Given the description of an element on the screen output the (x, y) to click on. 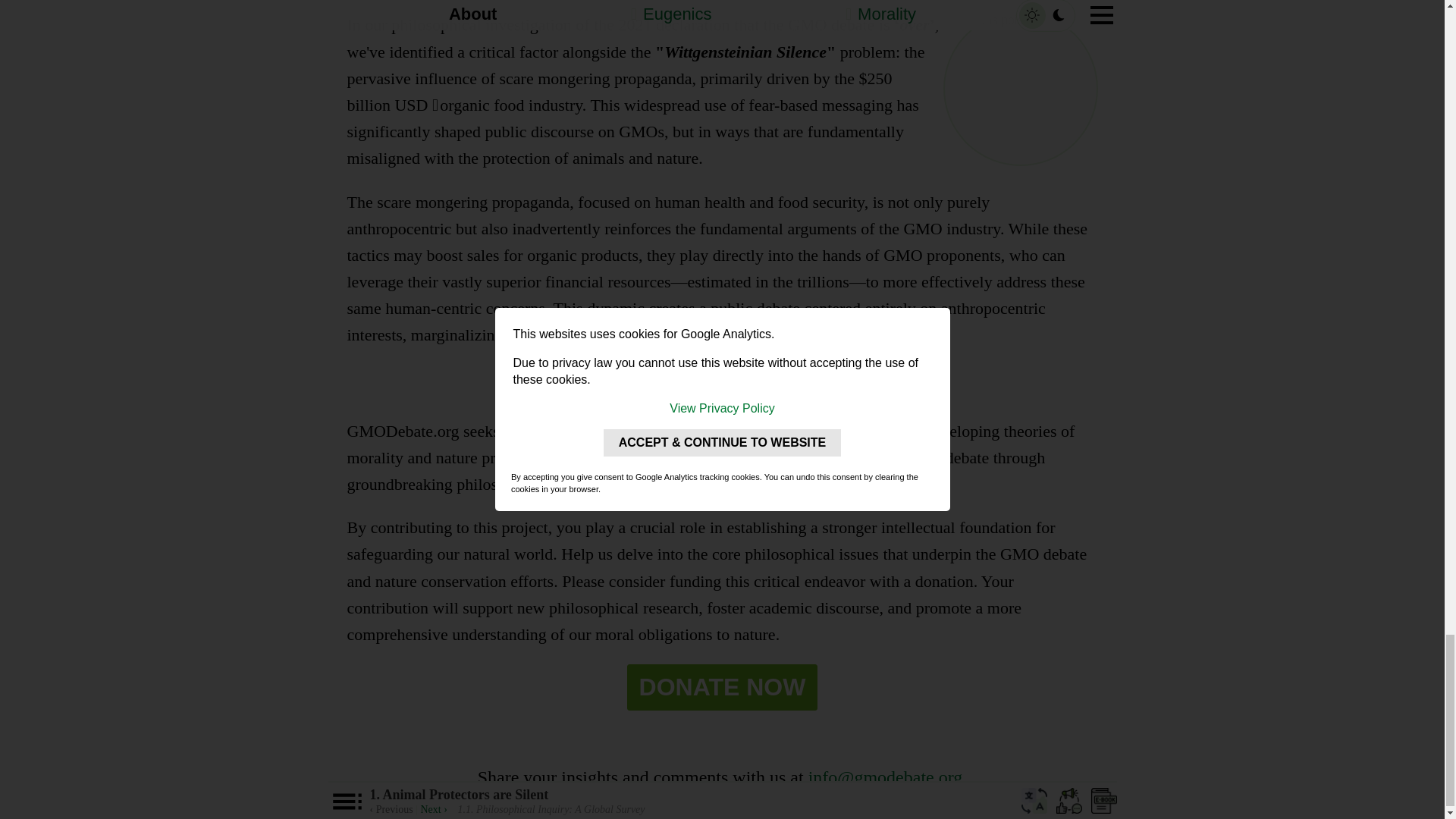
DONATE NOW (722, 687)
